Given the description of an element on the screen output the (x, y) to click on. 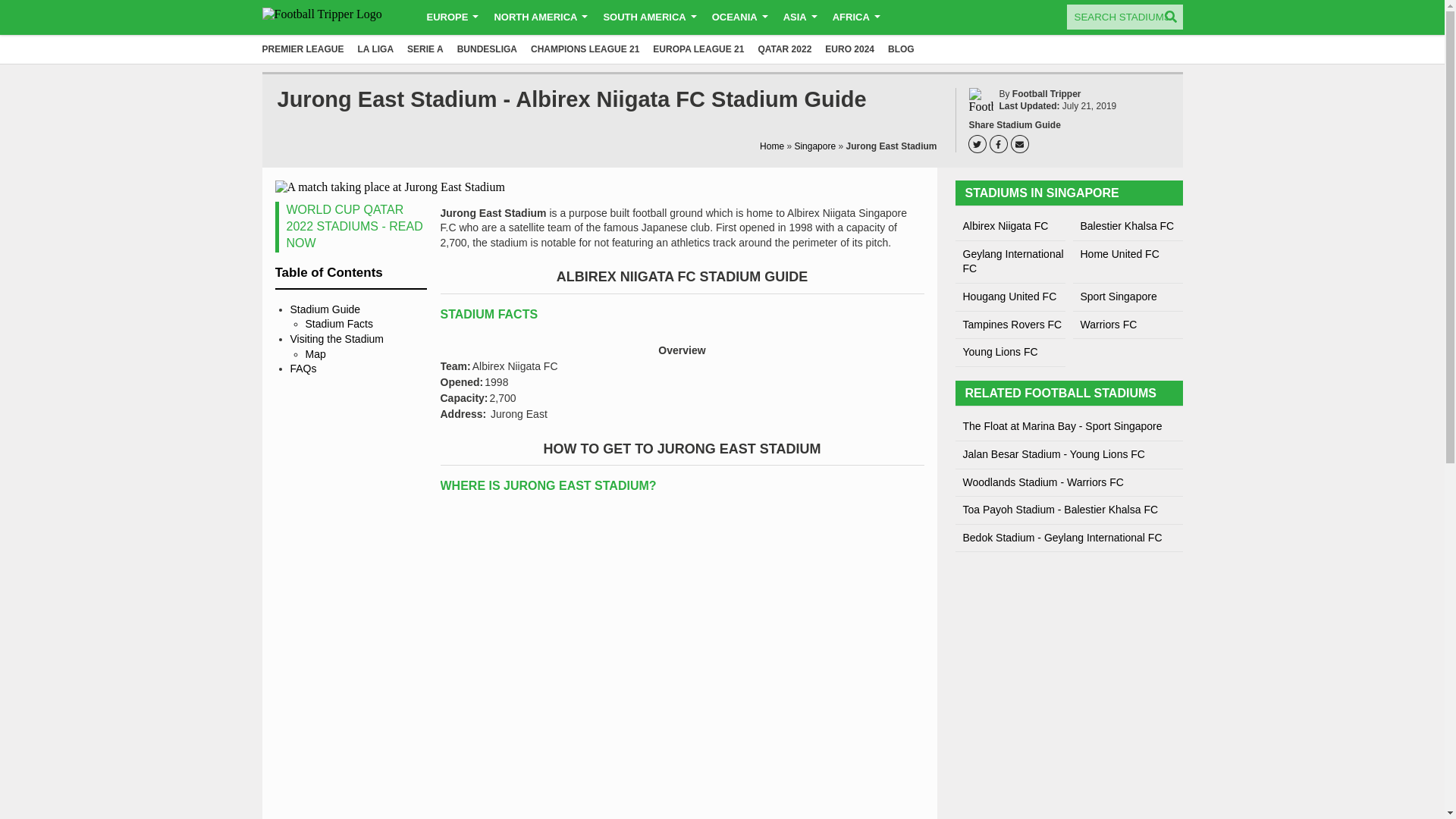
Share on Email (1021, 143)
Share on Twitter (979, 143)
Stadium Guides by Football Tripper (334, 17)
Share on Facebook (1000, 143)
